Given the description of an element on the screen output the (x, y) to click on. 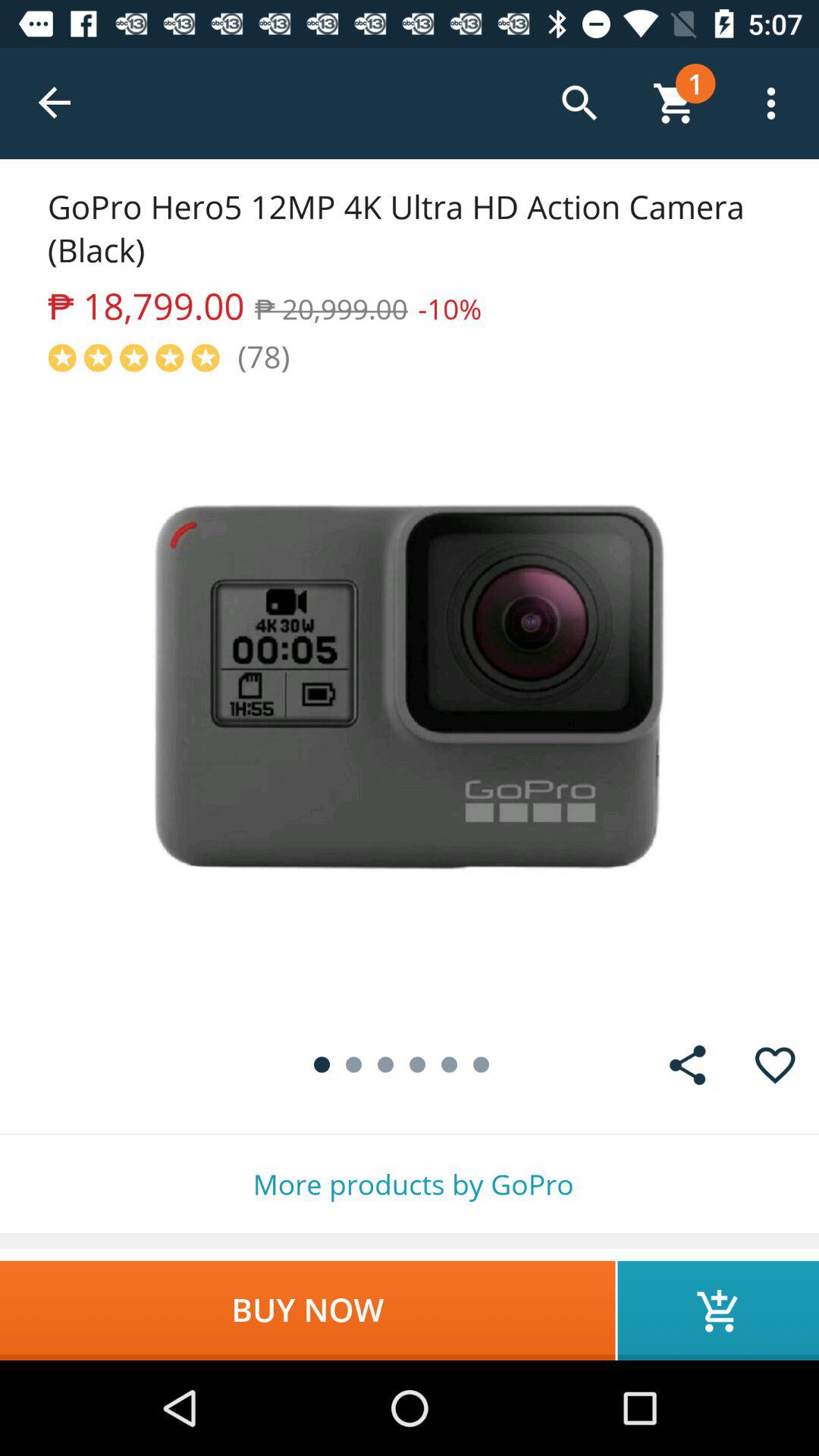
share (687, 1065)
